Given the description of an element on the screen output the (x, y) to click on. 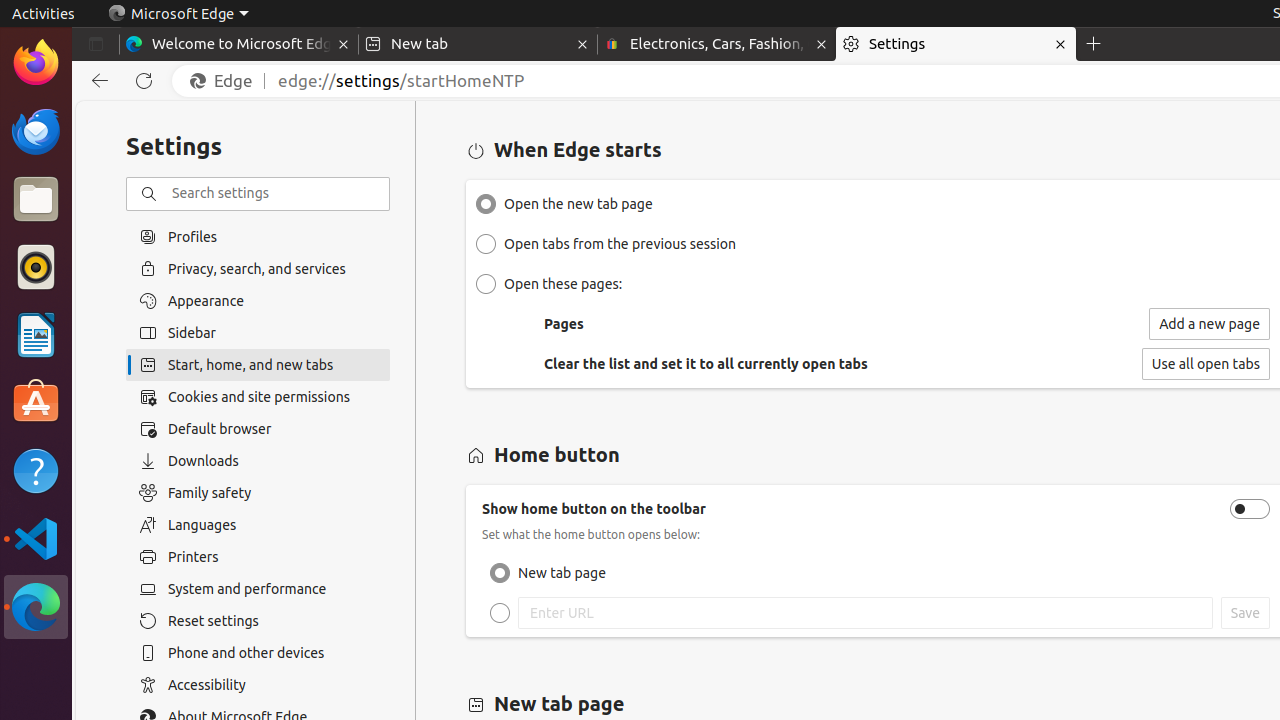
New tab Element type: page-tab (478, 44)
Microsoft Edge Element type: push-button (36, 607)
Firefox Web Browser Element type: push-button (36, 63)
Use all open tabs as the list of pages to open Element type: push-button (1205, 364)
Open tabs from the previous session Element type: radio-button (486, 244)
